Given the description of an element on the screen output the (x, y) to click on. 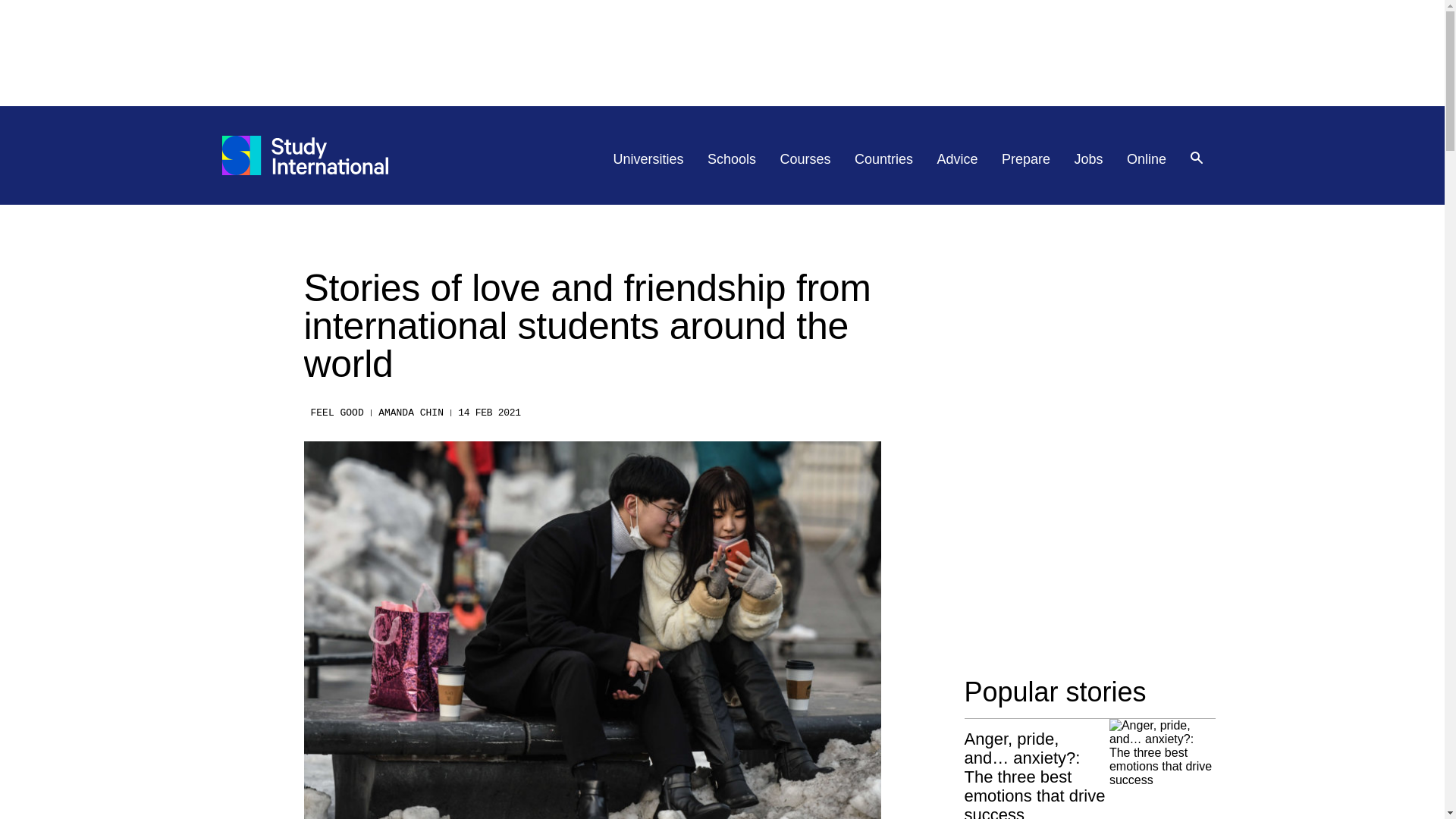
Jobs (1088, 159)
Advice (957, 159)
Universities (648, 159)
Countries (883, 159)
Schools (731, 159)
Online (1146, 159)
Courses (805, 159)
AMANDA CHIN (411, 412)
Prepare (1025, 159)
